Given the description of an element on the screen output the (x, y) to click on. 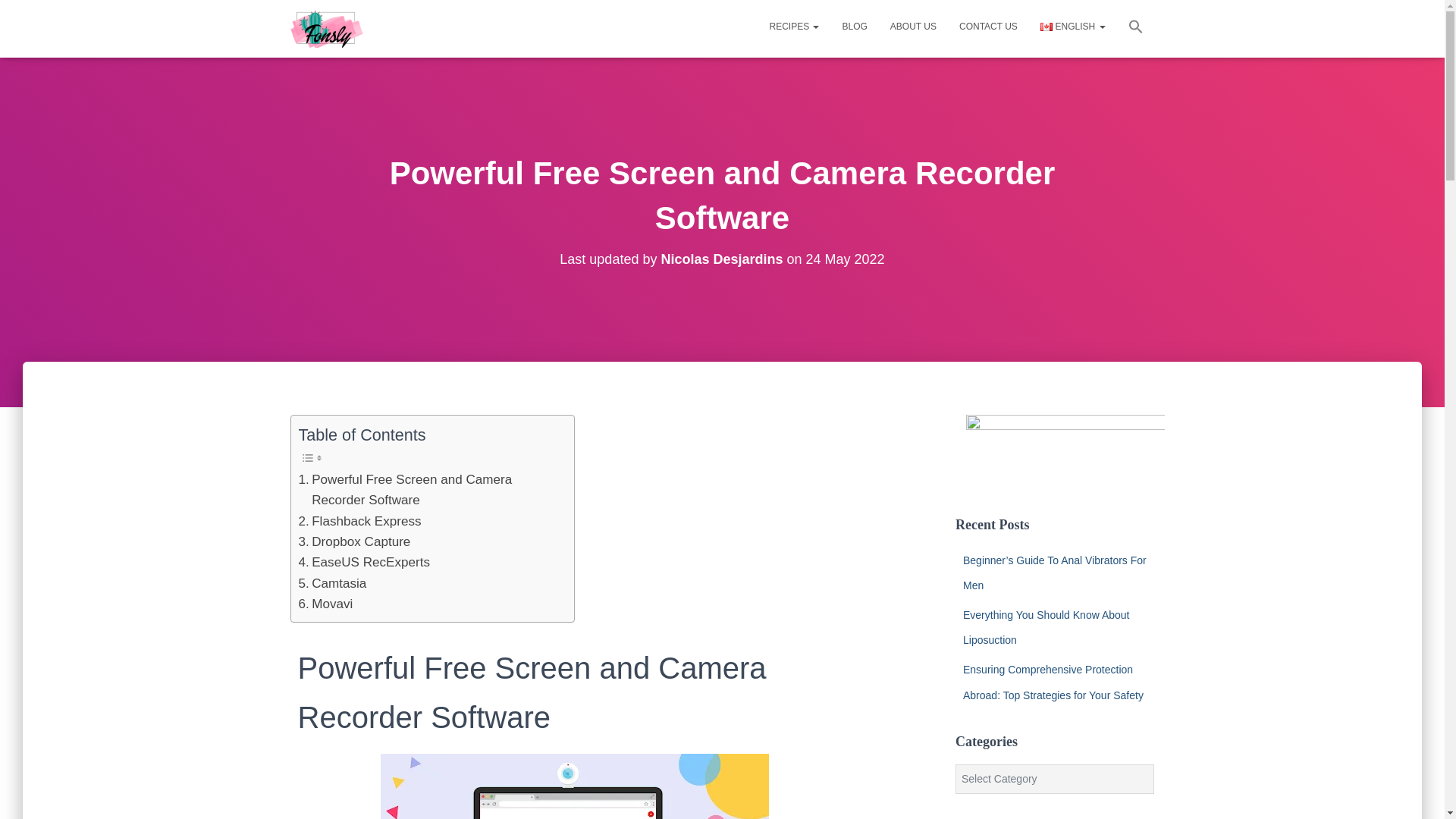
Dropbox Capture (354, 541)
EaseUS RecExperts (363, 562)
BLOG (853, 26)
RECIPES (793, 26)
Camtasia (332, 583)
About Us (913, 26)
Movavi (325, 603)
Flashback Express (360, 521)
ABOUT US (913, 26)
Nicolas Desjardins (722, 258)
